Given the description of an element on the screen output the (x, y) to click on. 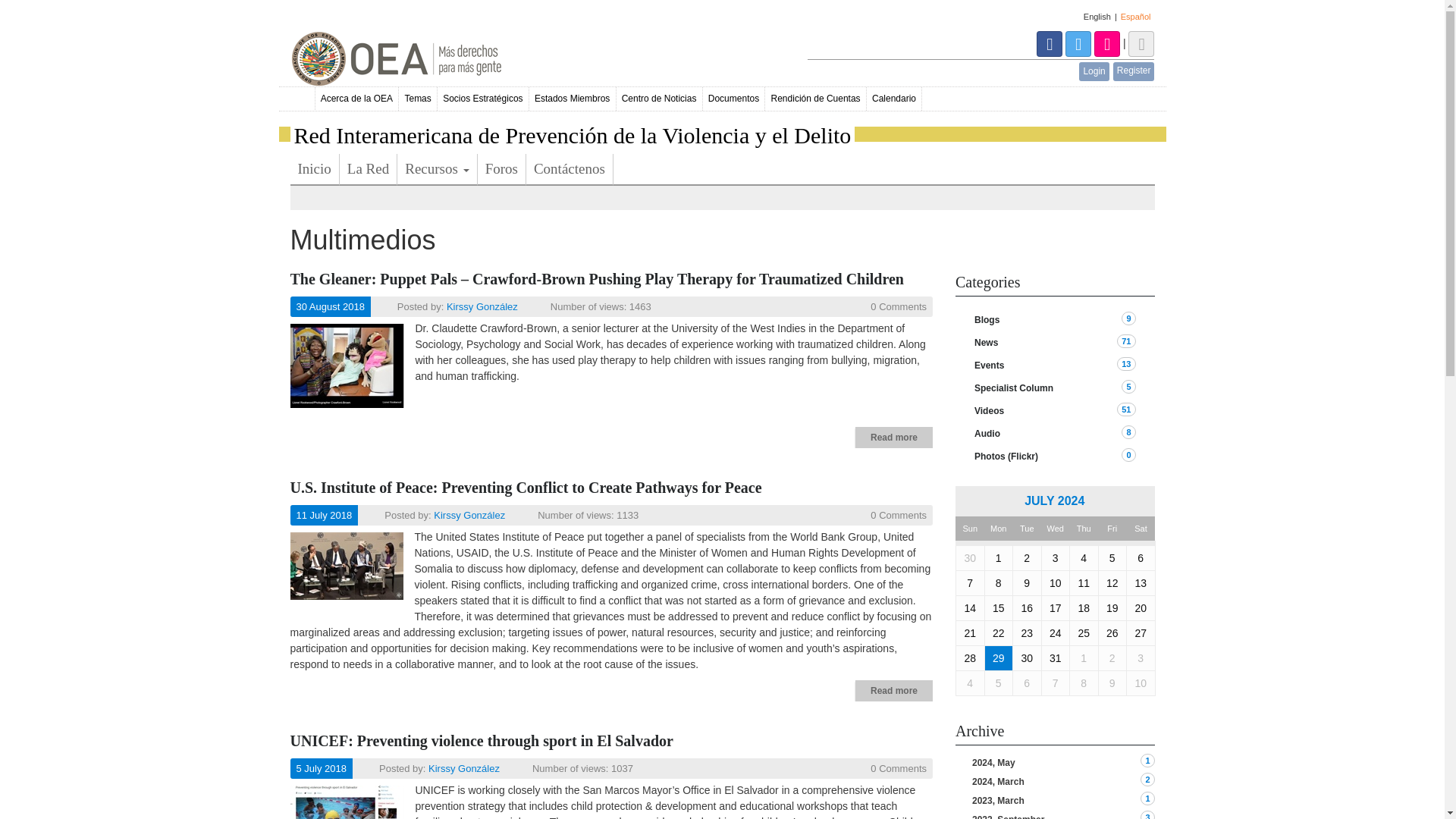
9 (1128, 318)
Acerca de la OEA (356, 98)
Twitter (1079, 42)
Blogs (1060, 319)
Login (1093, 70)
Facebook (1050, 42)
Usuario (1141, 42)
English (1096, 16)
Register (1133, 71)
Flickr (1108, 42)
Temas (418, 98)
English (1096, 16)
Register (1133, 71)
Login (1093, 70)
